Given the description of an element on the screen output the (x, y) to click on. 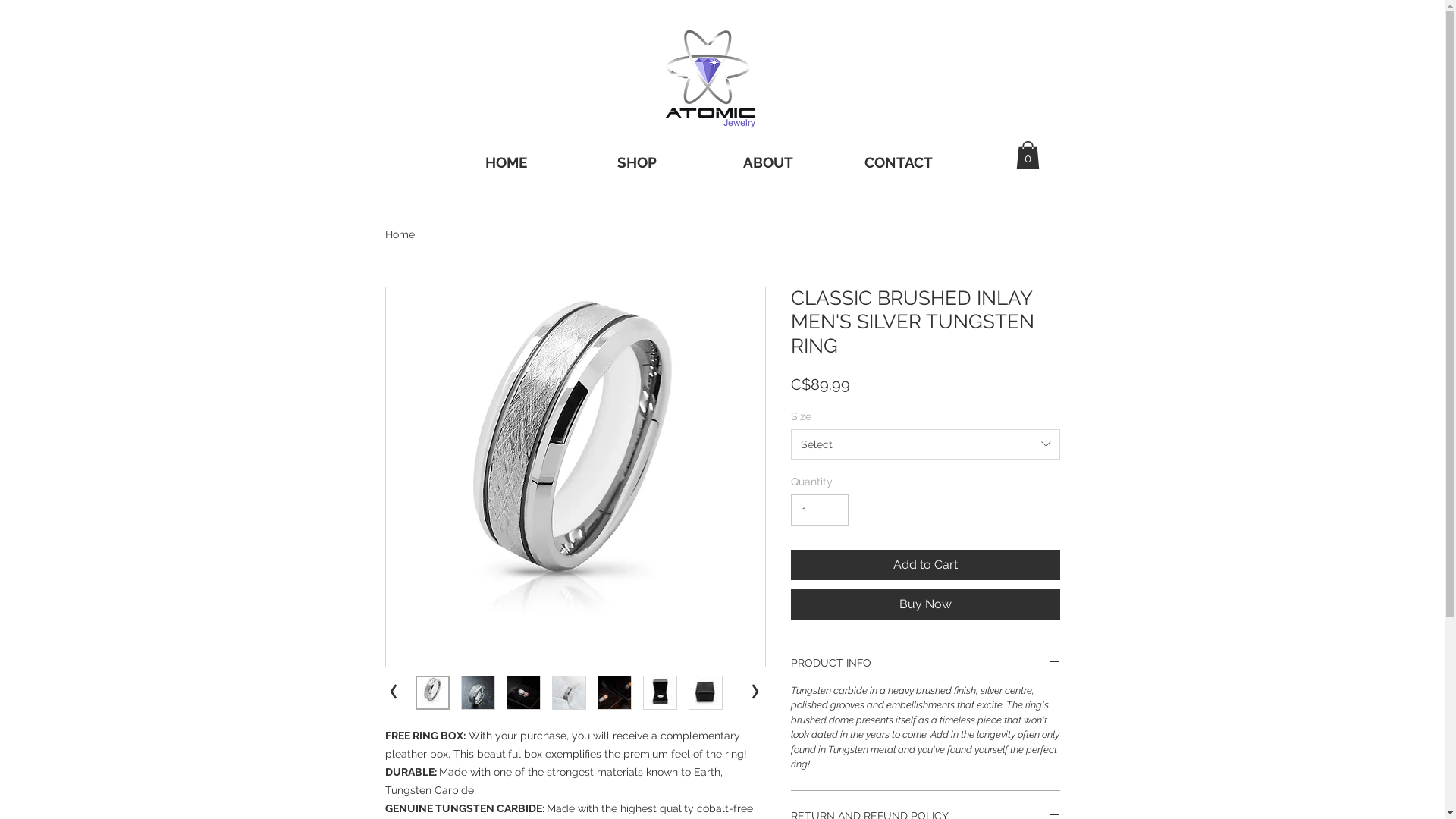
0 Element type: text (1027, 155)
Select Element type: text (924, 444)
CONTACT Element type: text (897, 162)
SHOP Element type: text (636, 162)
HOME Element type: text (505, 162)
Home Element type: text (399, 234)
ABOUT Element type: text (767, 162)
Add to Cart Element type: text (924, 564)
PRODUCT INFO Element type: text (924, 662)
Buy Now Element type: text (924, 604)
